Given the description of an element on the screen output the (x, y) to click on. 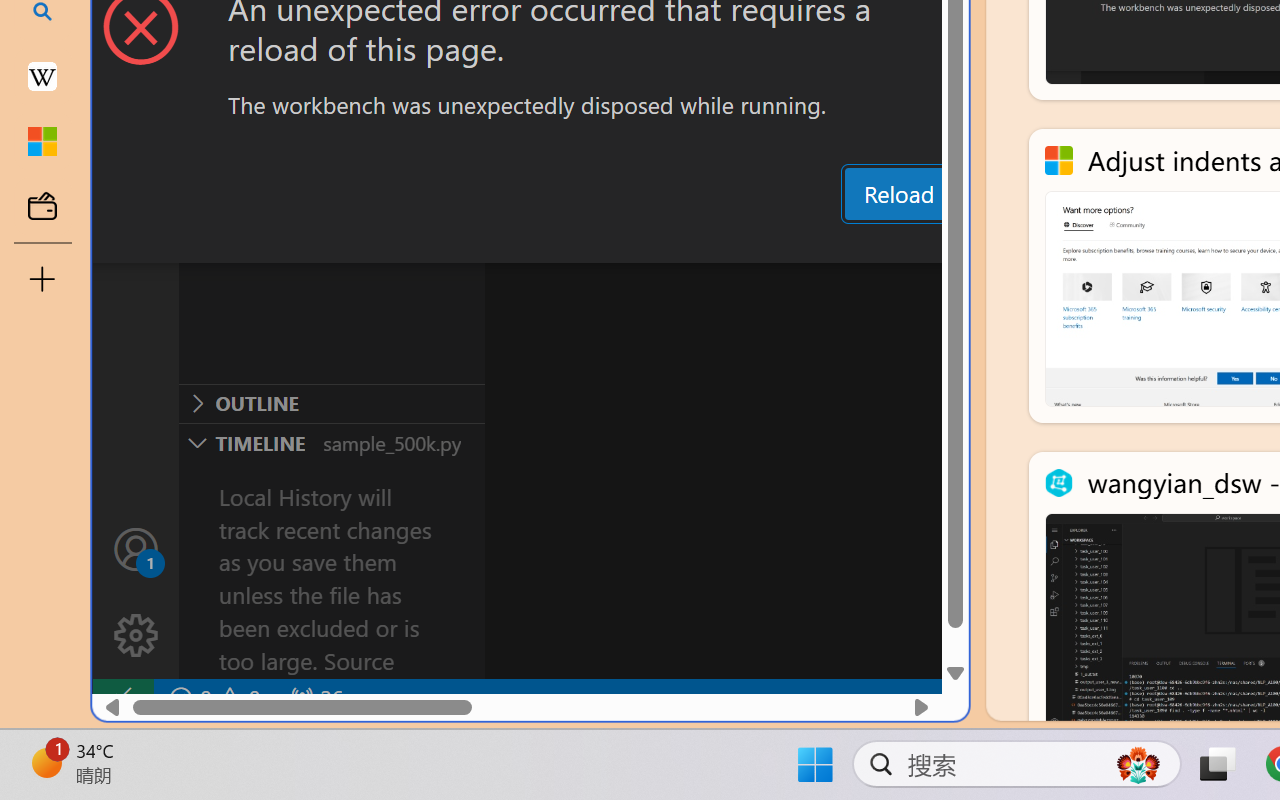
remote (122, 698)
Manage (135, 635)
Reload (898, 193)
No Problems (212, 698)
Terminal (Ctrl+`) (1021, 243)
